Given the description of an element on the screen output the (x, y) to click on. 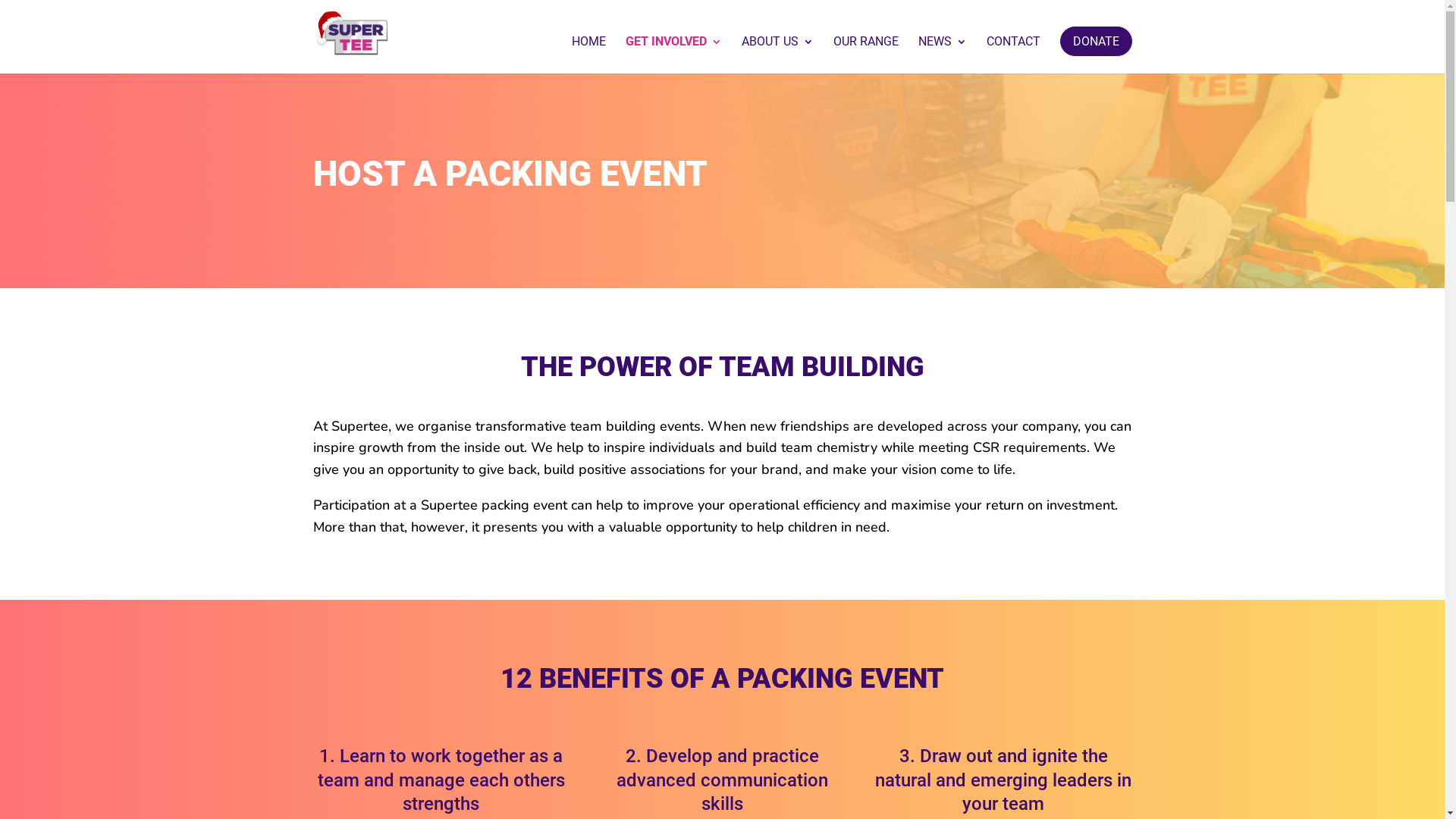
NEWS Element type: text (941, 54)
ABOUT US Element type: text (777, 54)
HOME Element type: text (588, 54)
DONATE Element type: text (1096, 41)
OUR RANGE Element type: text (864, 54)
CONTACT Element type: text (1012, 54)
GET INVOLVED Element type: text (672, 54)
